Given the description of an element on the screen output the (x, y) to click on. 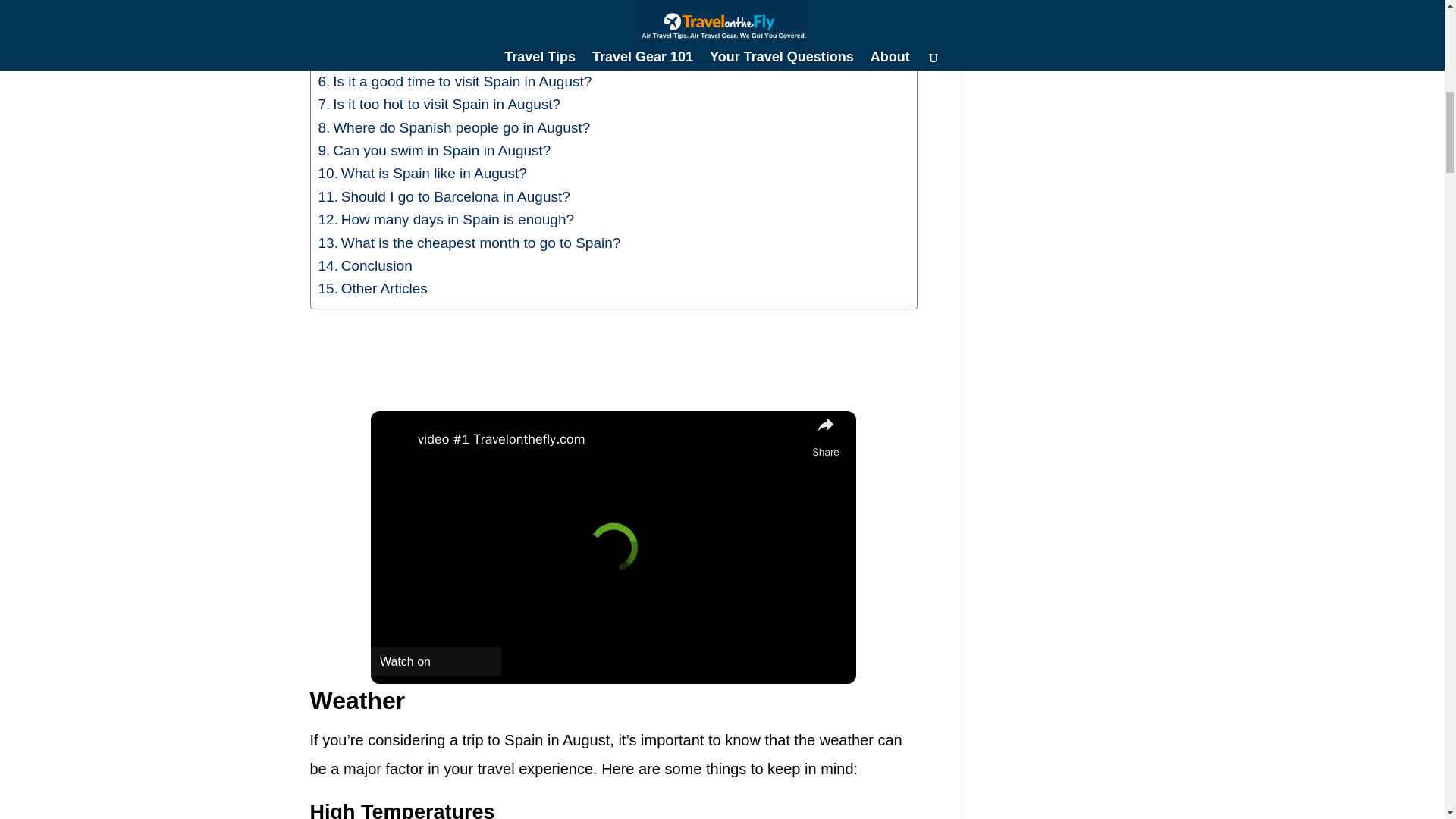
Where do Spanish people go in August? (454, 128)
Popular August Events and Festivals in Spain (471, 35)
What is Spain like in August? (422, 173)
What is the cheapest month to go to Spain? (469, 242)
Is it a good time to visit Spain in August? (455, 81)
What is the cheapest month to go to Spain? (469, 242)
Activities (354, 12)
Less Crowded Attractions and Activities (451, 57)
Is it too hot to visit Spain in August? (439, 104)
Activities (354, 12)
